Given the description of an element on the screen output the (x, y) to click on. 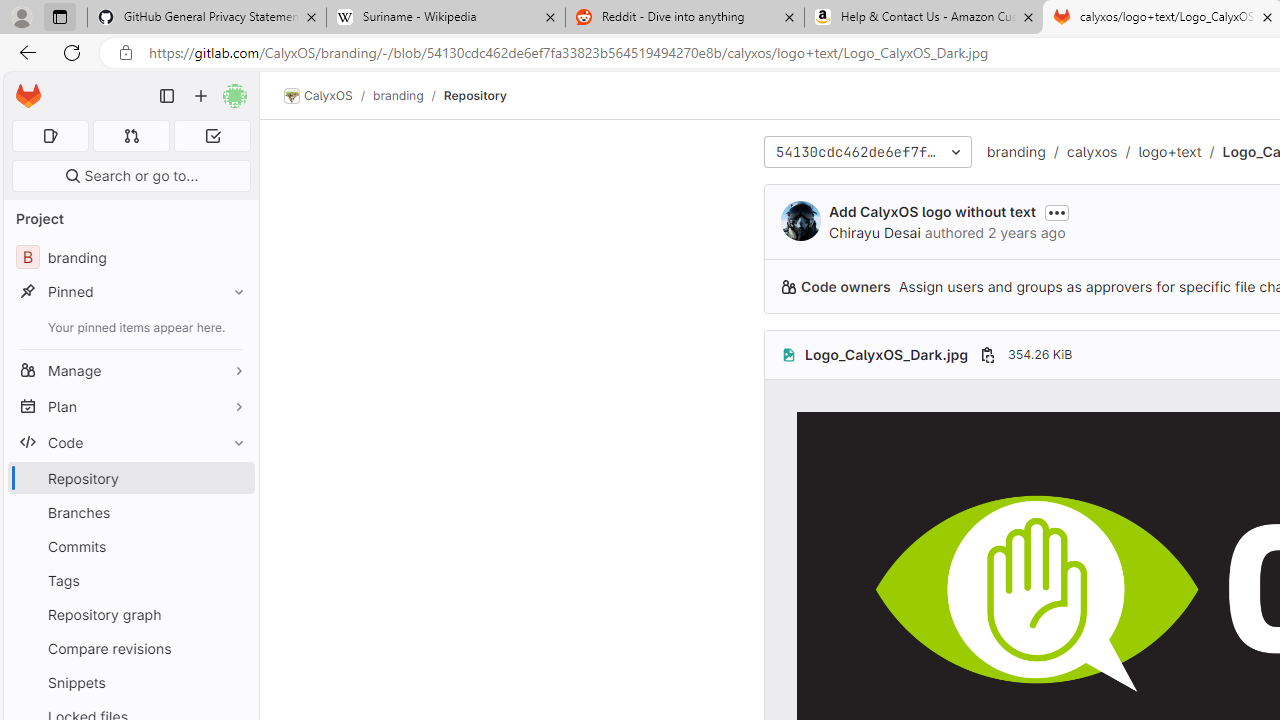
branding (1015, 151)
Pin Snippets (234, 682)
Branches (130, 512)
